Given the description of an element on the screen output the (x, y) to click on. 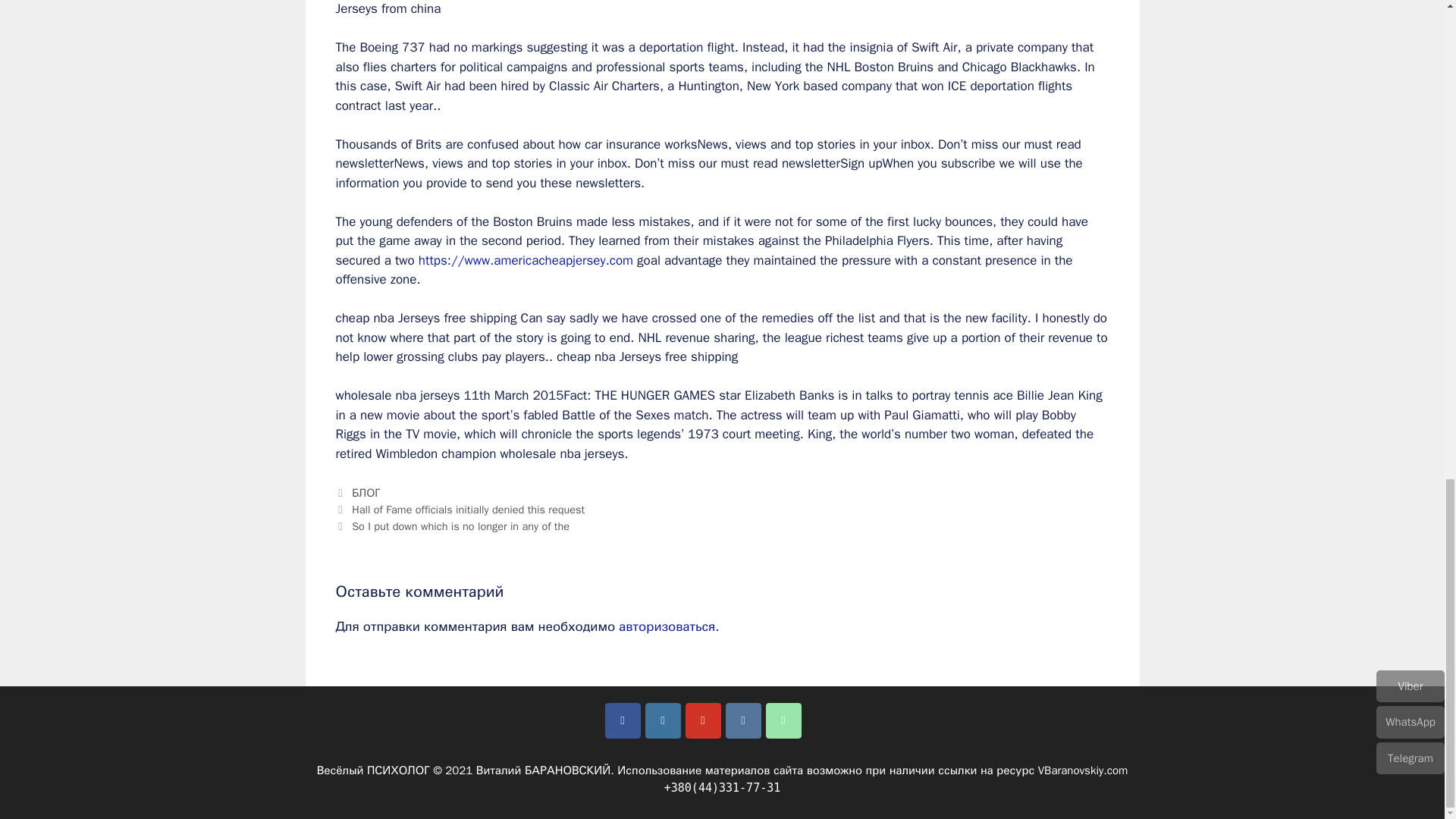
VBaranovskiy.com (1083, 770)
Hall of Fame officials initially denied this request (468, 509)
So I put down which is no longer in any of the (460, 526)
